Given the description of an element on the screen output the (x, y) to click on. 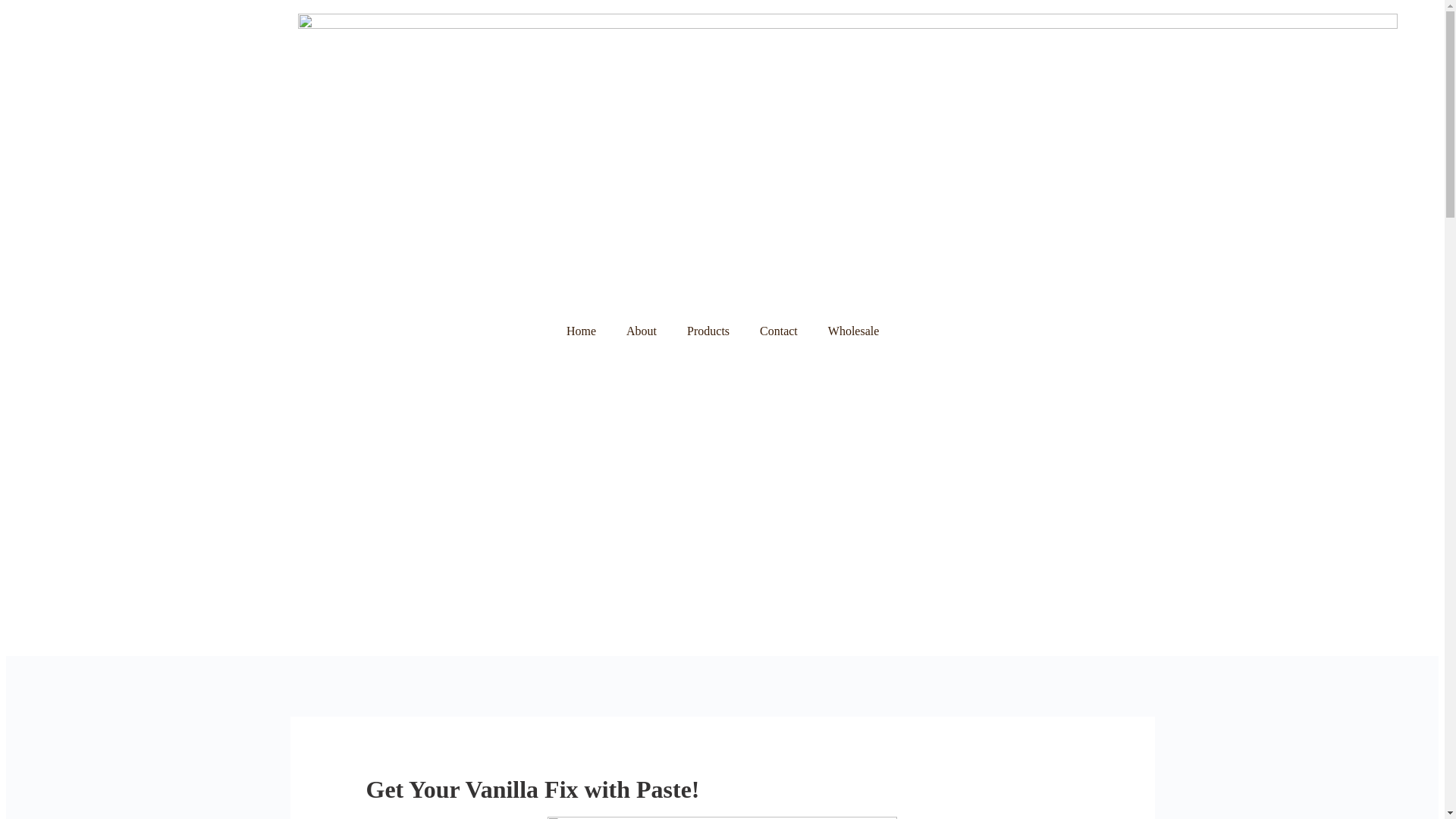
Products (707, 330)
Contact (778, 330)
Home (581, 330)
Wholesale (853, 330)
Get Your Vanilla Fix with Paste! (531, 789)
About (641, 330)
